Given the description of an element on the screen output the (x, y) to click on. 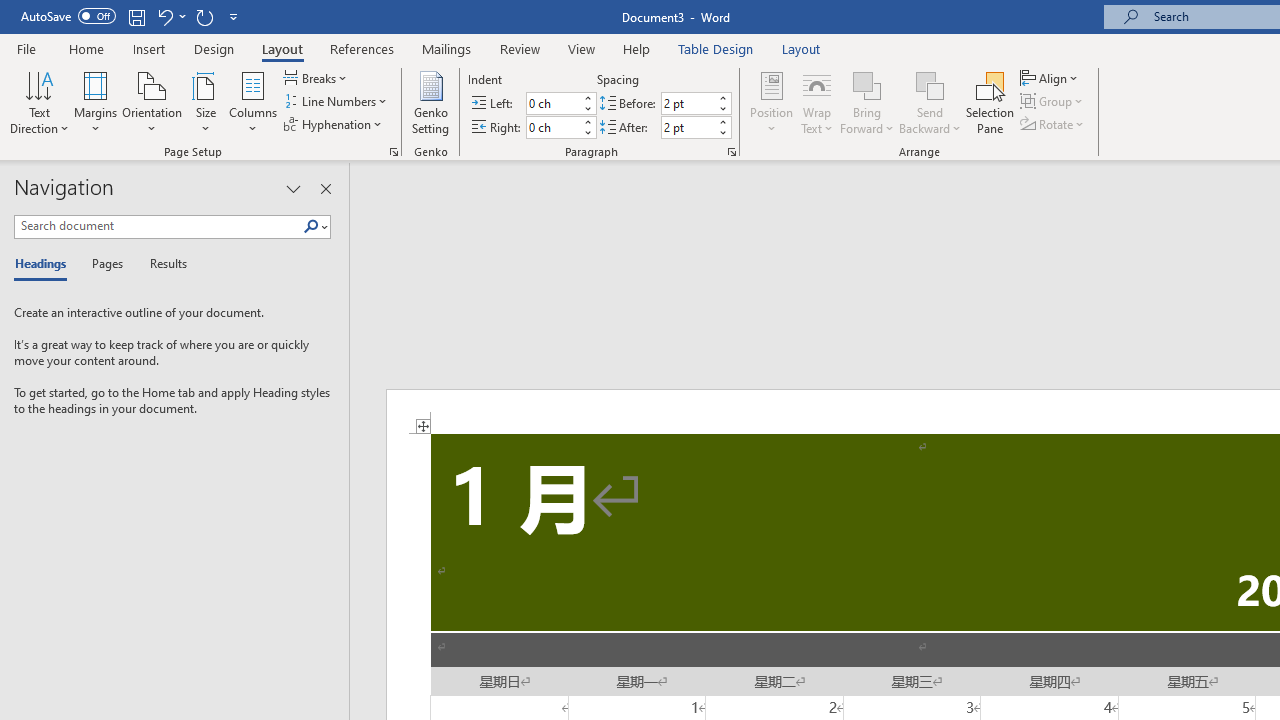
Table Design (715, 48)
Pages (105, 264)
Bring Forward (867, 84)
Margins (95, 102)
Spacing After (687, 127)
Paragraph... (731, 151)
